Given the description of an element on the screen output the (x, y) to click on. 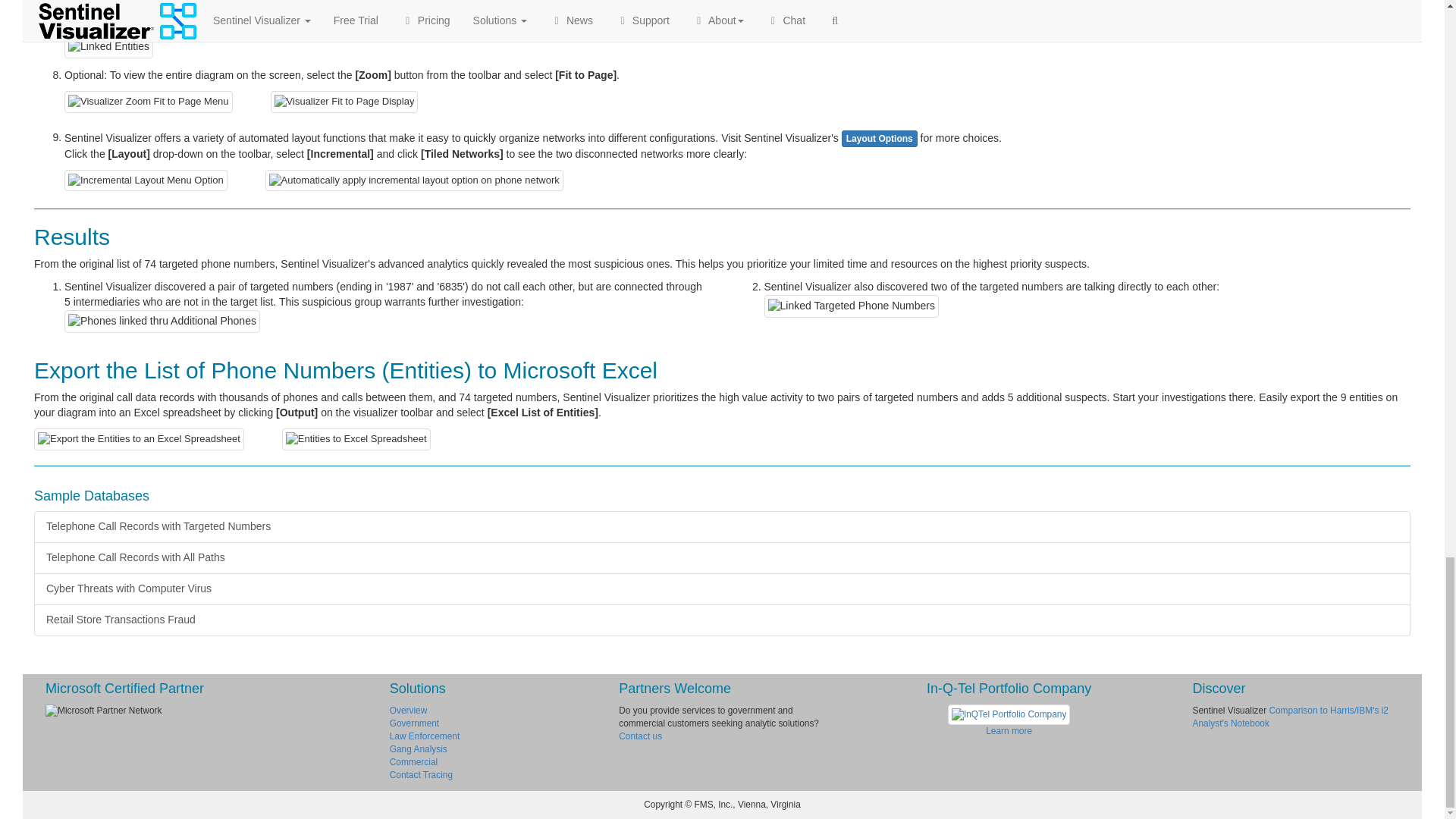
Export the Entities to an Excel Spreadsheet (138, 439)
Visualizer Fit to Page Display (344, 101)
Visualizer Zoom Fit to Page Menu (148, 101)
Microsoft Partner Network (205, 710)
Linked Targeted Phone Numbers (851, 305)
Linked Entities (108, 47)
Phones linked thru Additional Phones (162, 321)
Entities to Excel Spreadsheet (356, 439)
InQTel Portfolio Company (1008, 714)
Get Links Between Entities (137, 5)
Incremental Layout Menu Option (145, 180)
